Given the description of an element on the screen output the (x, y) to click on. 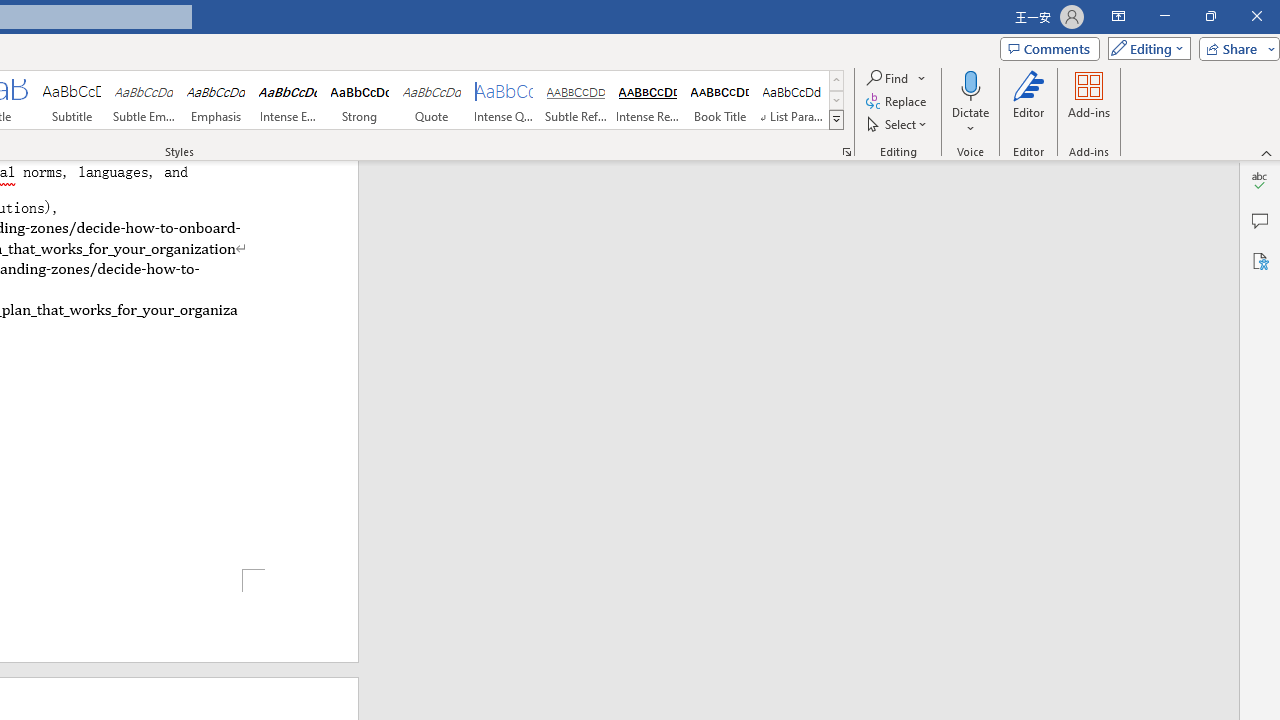
Row Down (836, 100)
Accessibility (1260, 260)
Subtitle (71, 100)
Intense Quote (504, 100)
Intense Emphasis (287, 100)
